Given the description of an element on the screen output the (x, y) to click on. 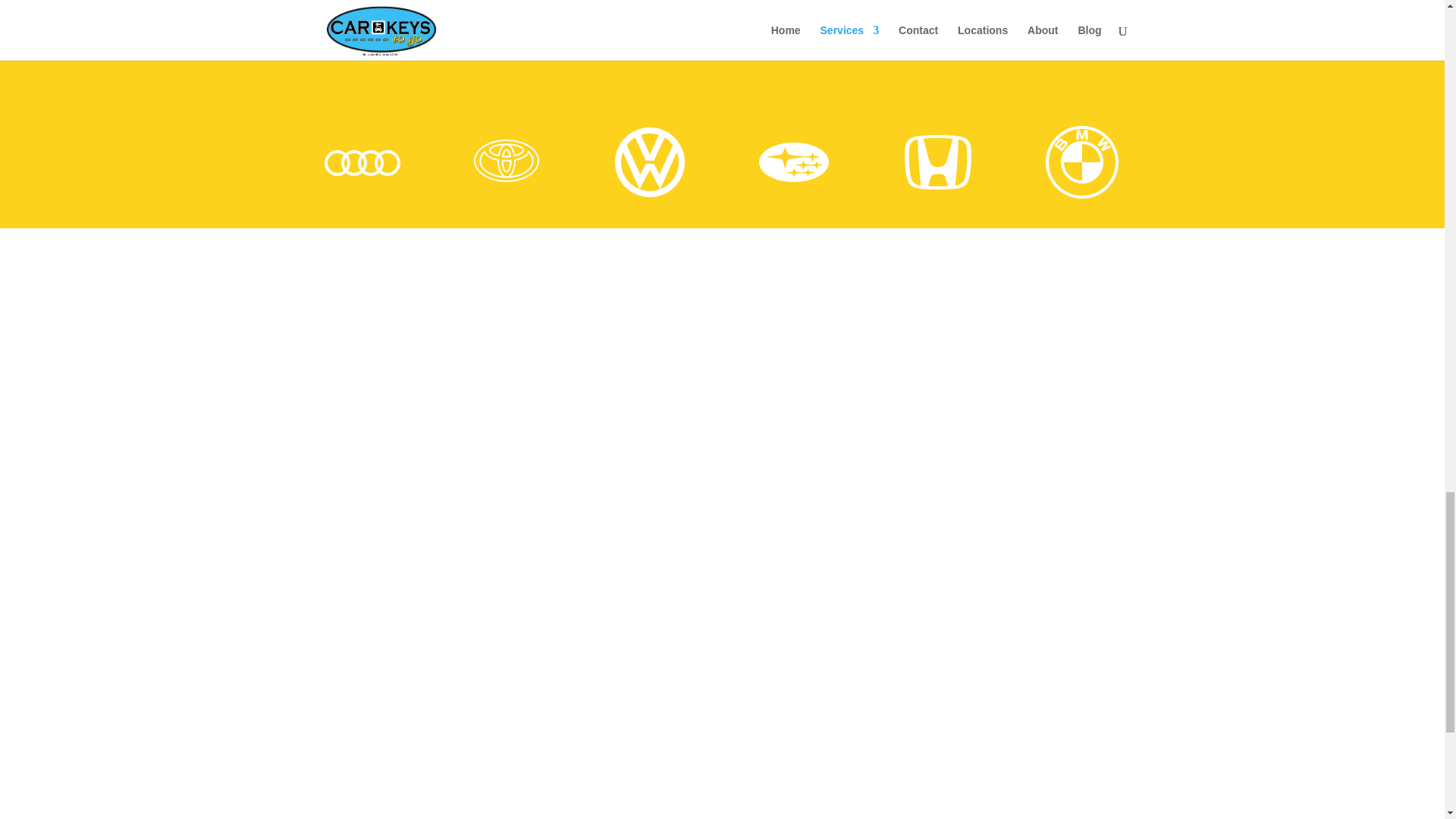
icons8-toyota-100 (506, 161)
icons8-honda-100 (937, 161)
icons8-subaru-100 (793, 161)
icons8-bmw-100 (1081, 161)
icons8-volkswagen-100 (649, 161)
icons8-audi-100 (362, 161)
